Given the description of an element on the screen output the (x, y) to click on. 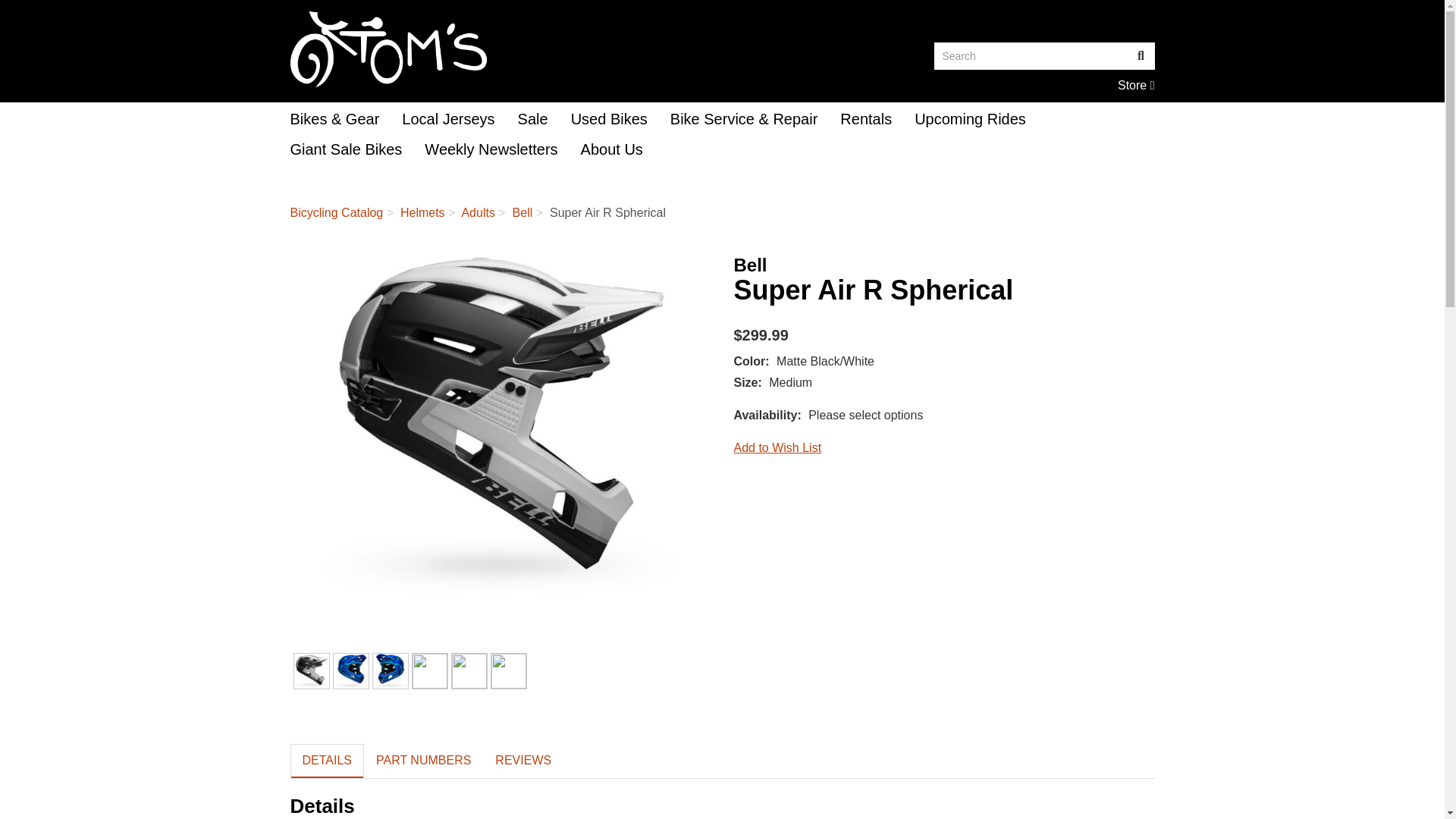
Bell Super Air R Spherical (1136, 84)
Search (500, 426)
Store (1140, 55)
Tom's Bicycles Home Page (1136, 84)
Search (499, 48)
